Given the description of an element on the screen output the (x, y) to click on. 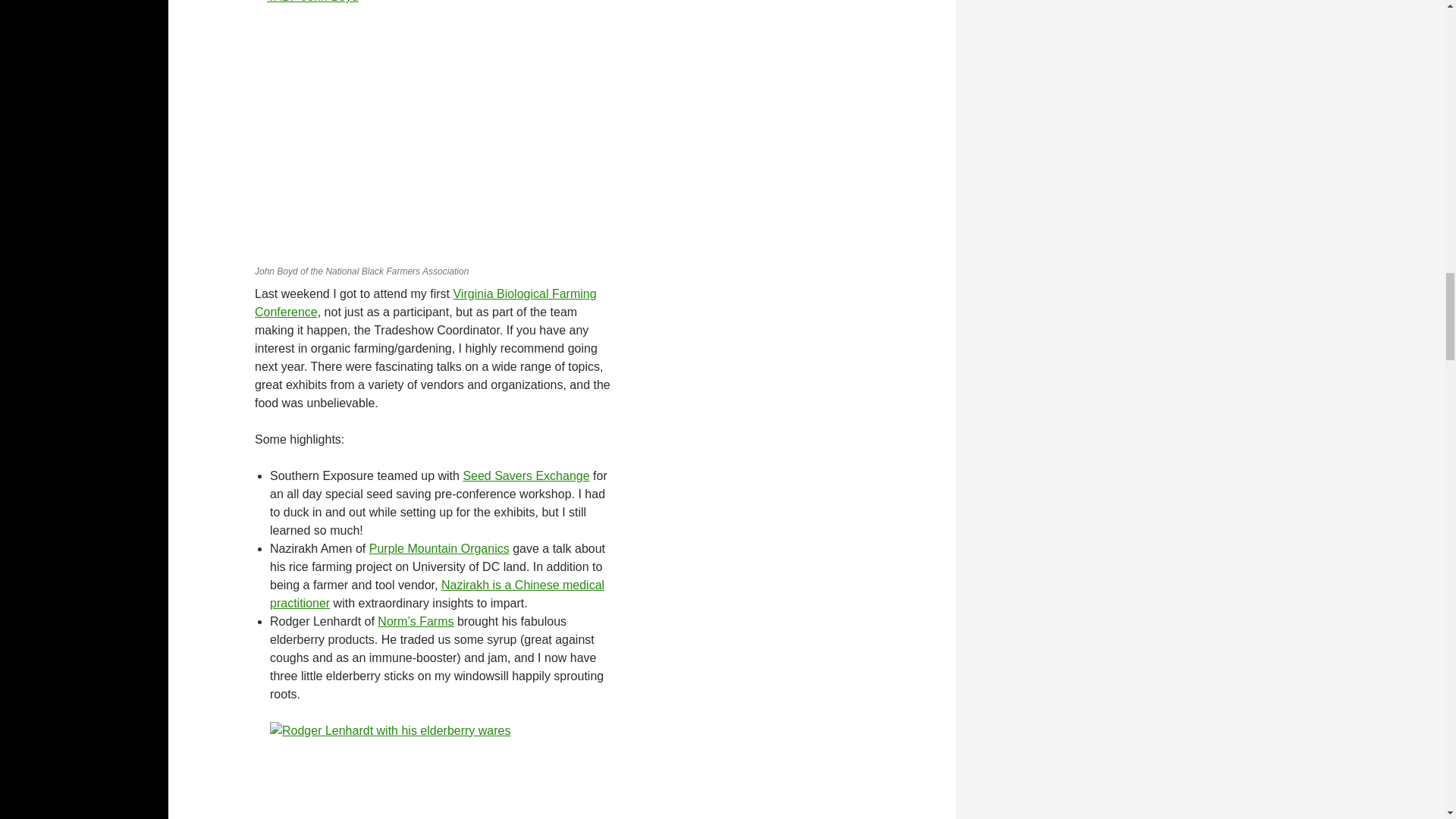
Virginia Biological Farming Conference (425, 302)
Purple Mountain Organics (439, 548)
Nazirakh is a Chinese medical practitioner (436, 593)
Seed Savers Exchange (526, 475)
